Given the description of an element on the screen output the (x, y) to click on. 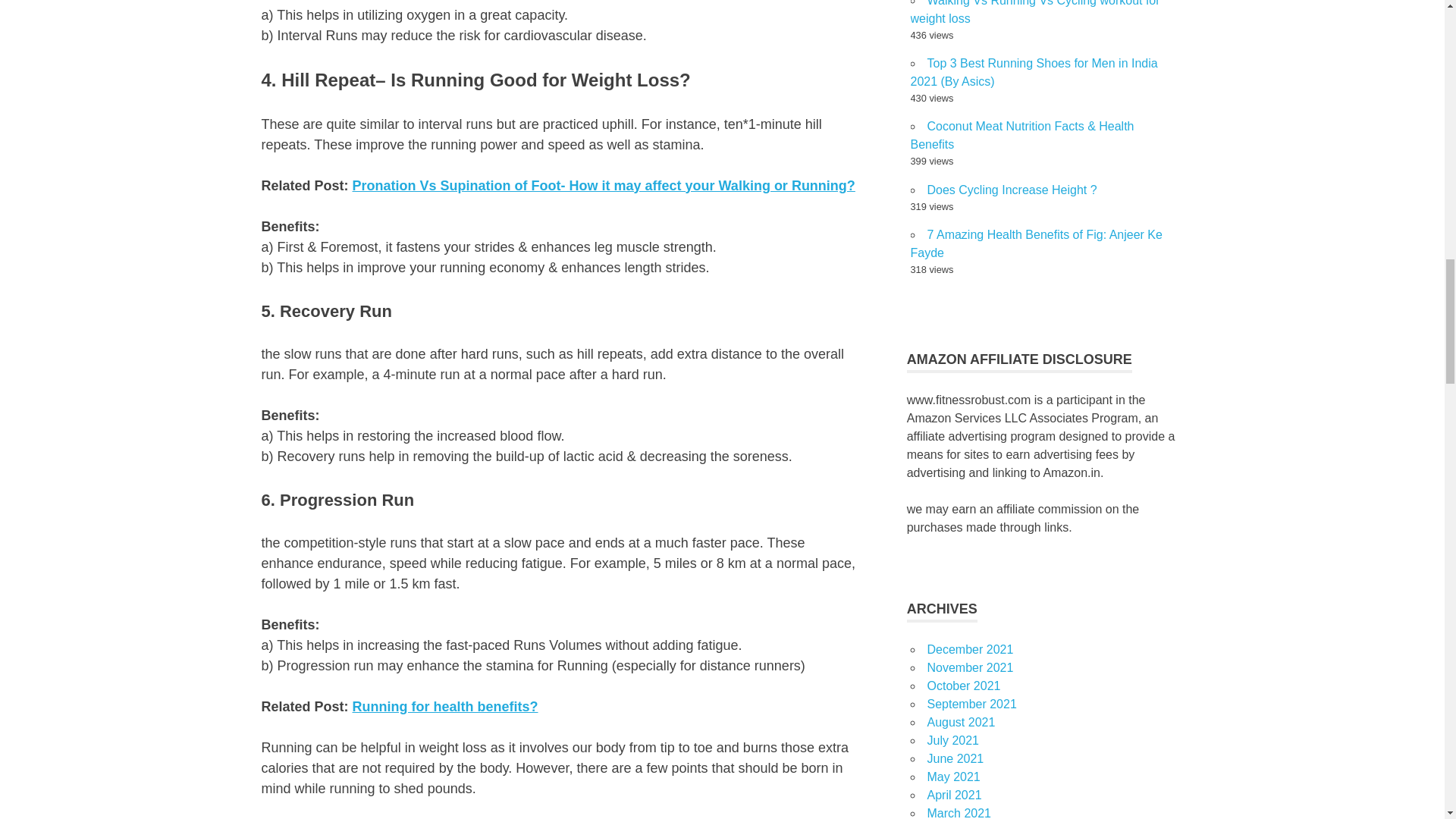
Running for health benefits? (445, 706)
